Given the description of an element on the screen output the (x, y) to click on. 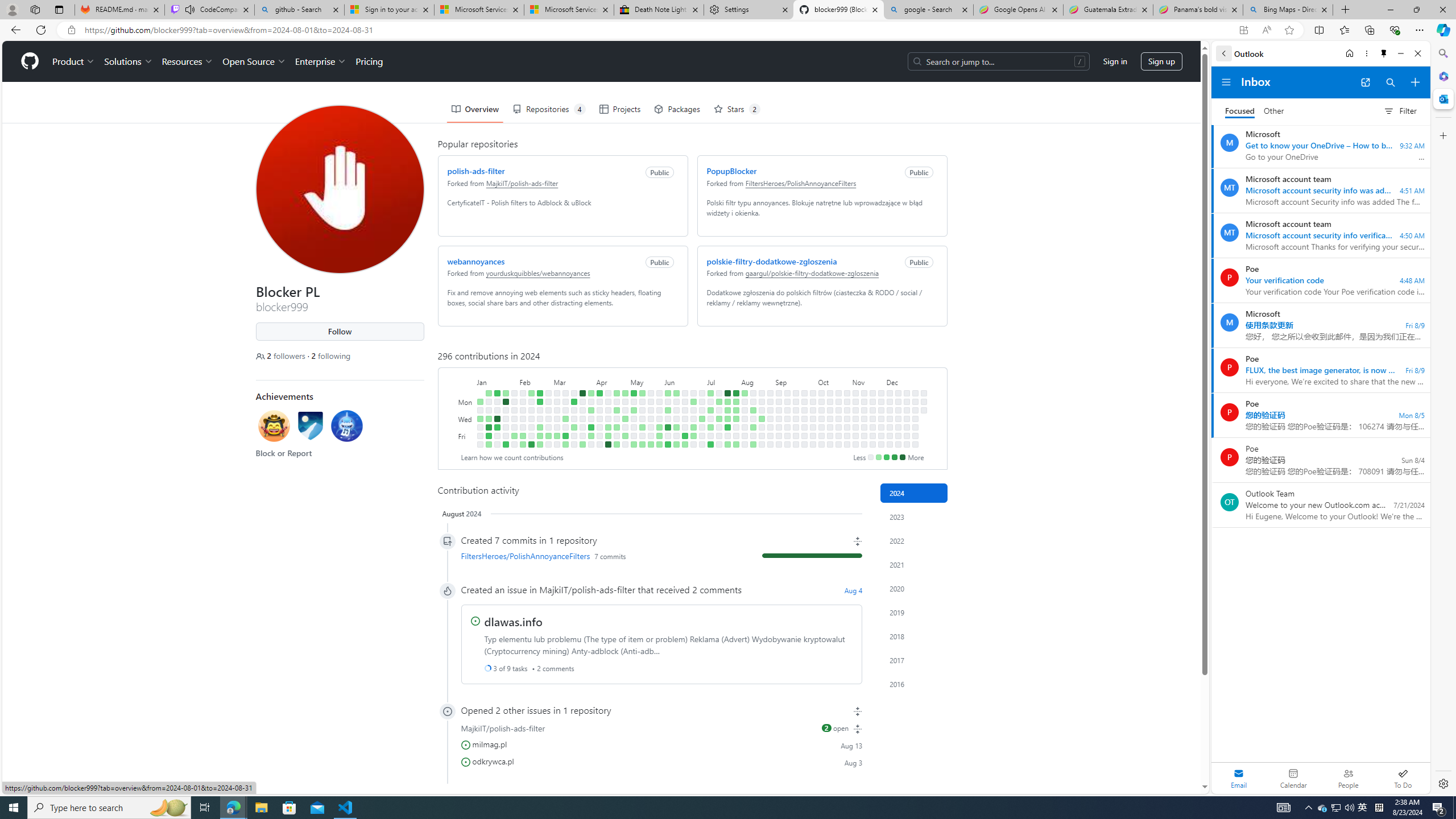
No contributions on November 29th. (880, 435)
No contributions on April 24th. (616, 418)
No contributions on July 2nd. (701, 410)
No contributions on July 6th. (701, 444)
No contributions on September 10th. (786, 410)
5 contributions on April 7th. (598, 392)
No contributions on August 14th. (753, 418)
No contributions on July 12th. (710, 435)
No contributions on March 20th. (573, 418)
1 contribution on July 23rd. (726, 410)
2 contributions on January 3rd. (479, 418)
No contributions on September 28th. (804, 444)
